Given the description of an element on the screen output the (x, y) to click on. 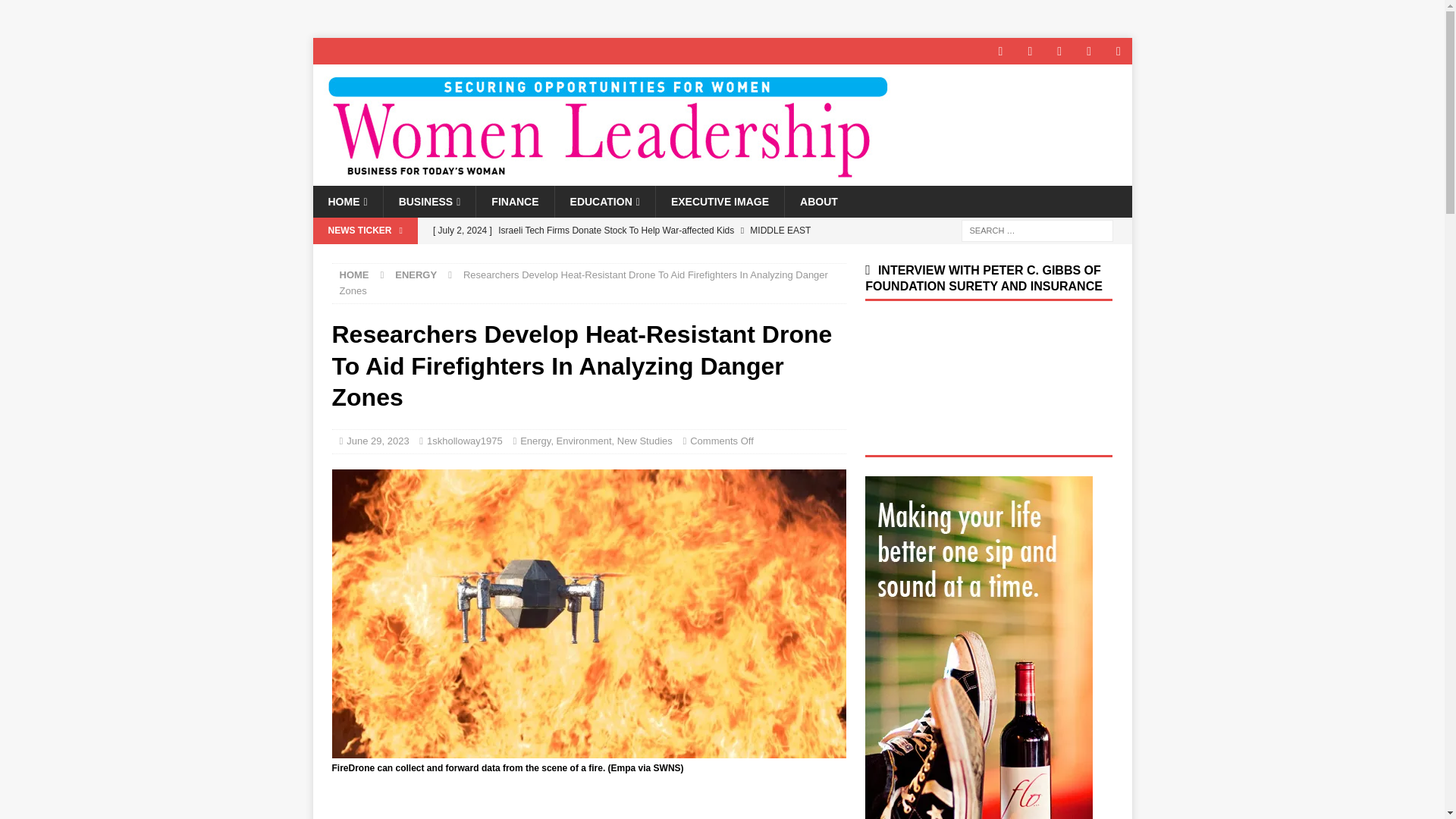
EXECUTIVE IMAGE (719, 201)
Israeli Tech Firms Donate Stock To Help War-affected Kids (634, 230)
FINANCE (514, 201)
Women Leadership Magazine USA (604, 177)
EDUCATION (604, 201)
ABOUT (818, 201)
BUSINESS (429, 201)
HOME (347, 201)
